Given the description of an element on the screen output the (x, y) to click on. 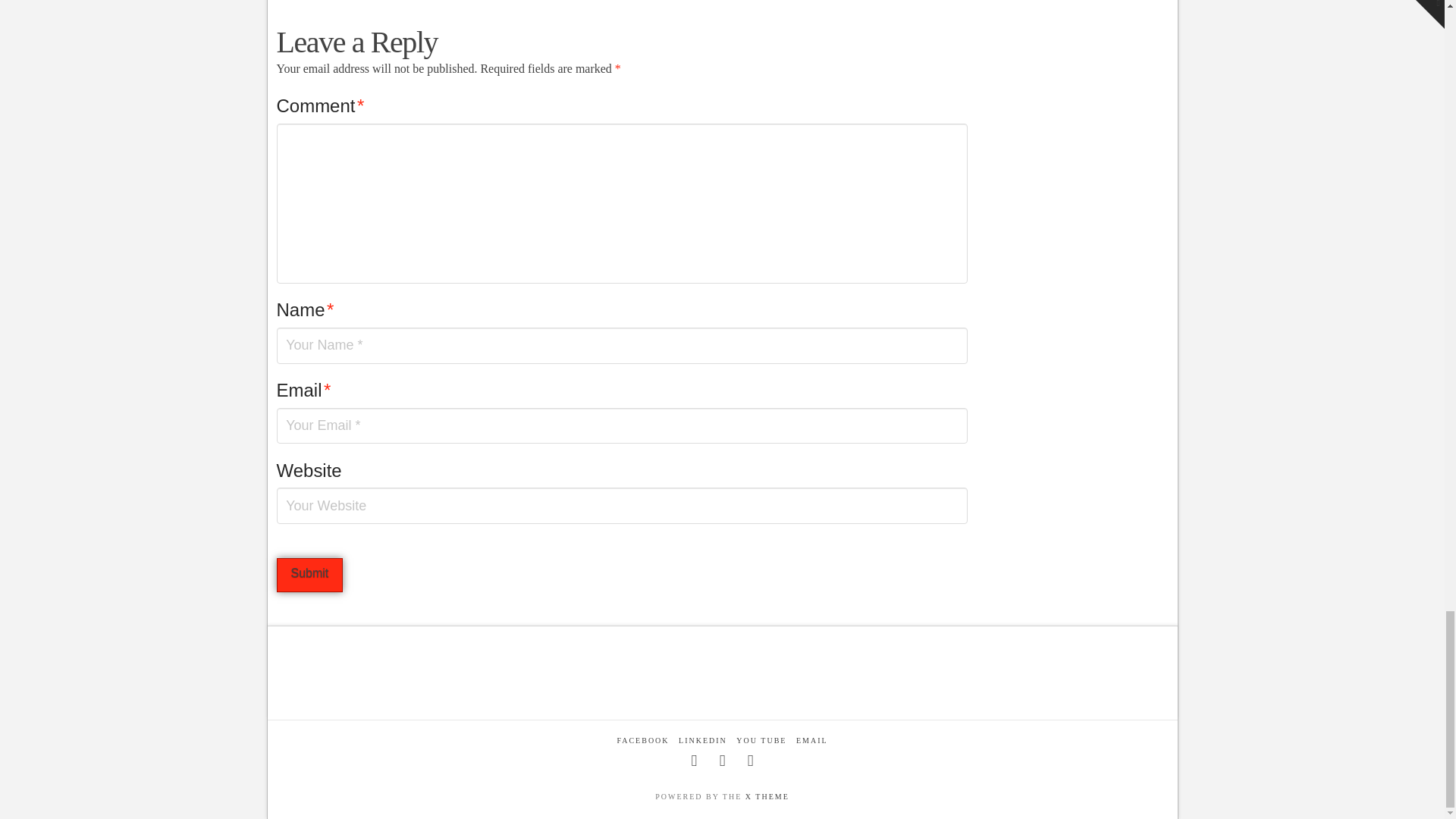
Facebook (694, 760)
YouTube (751, 760)
Submit (309, 574)
LinkedIn (722, 760)
